Given the description of an element on the screen output the (x, y) to click on. 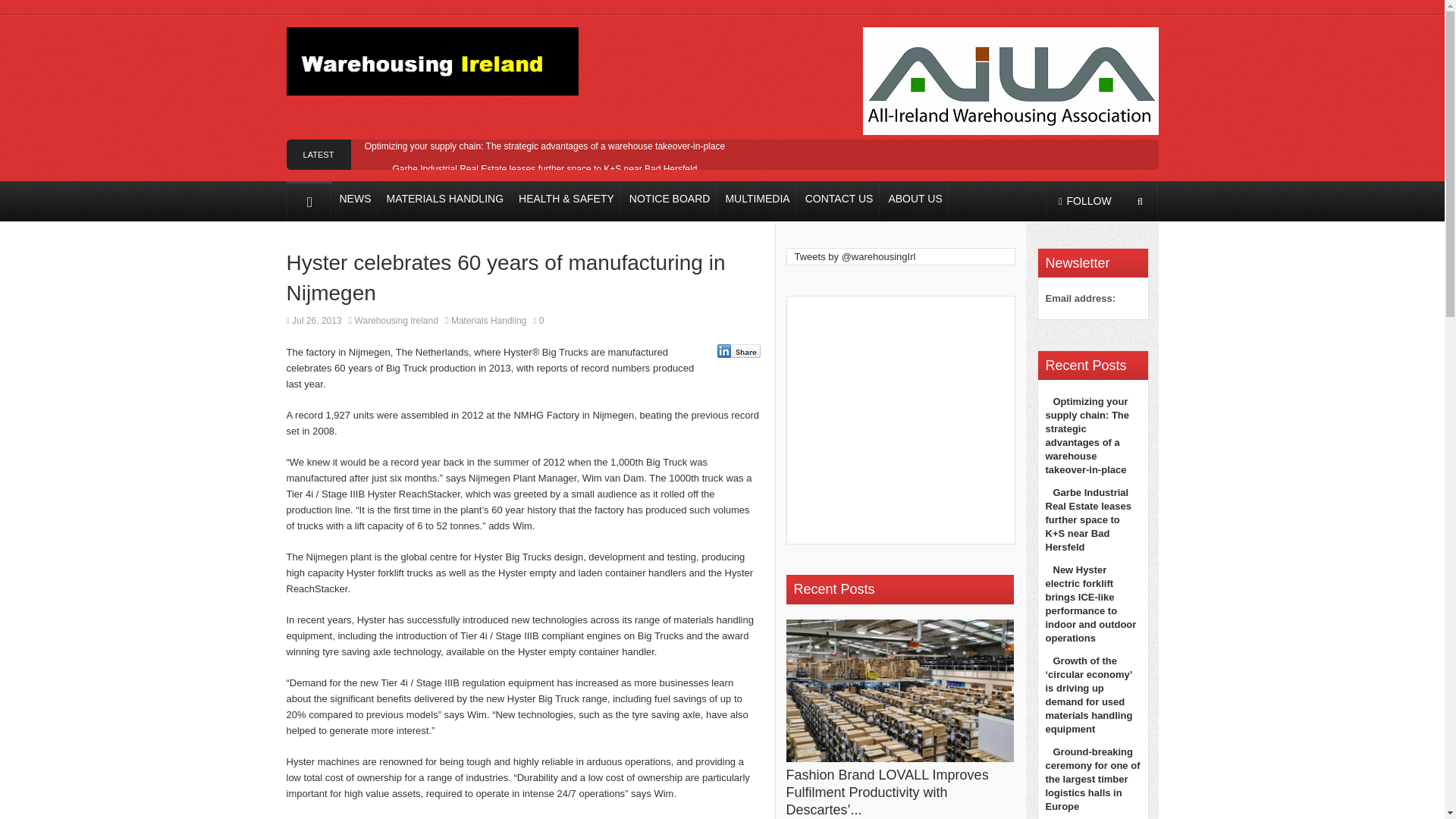
MATERIALS HANDLING (445, 199)
MULTIMEDIA (756, 199)
NOTICE BOARD (669, 199)
CONTACT US (838, 199)
Posts by Warehousing Ireland (396, 320)
Materials Handling (488, 320)
FOLLOW (1084, 200)
ABOUT US (914, 199)
0 (537, 320)
